Given the description of an element on the screen output the (x, y) to click on. 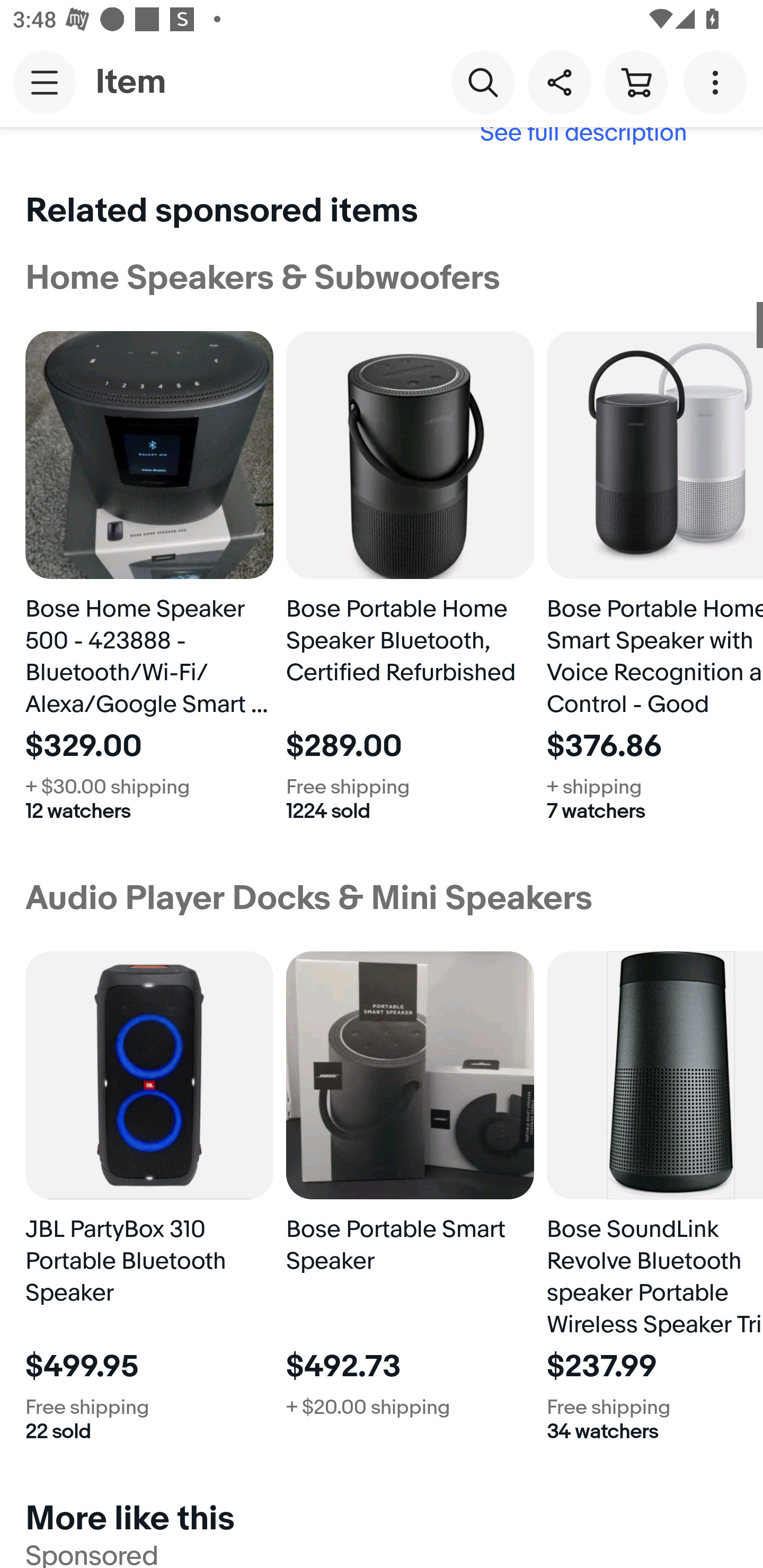
Main navigation, open (44, 82)
Search (482, 81)
Share this item (559, 81)
Cart button shopping cart (635, 81)
More options (718, 81)
See full description (381, 145)
